Given the description of an element on the screen output the (x, y) to click on. 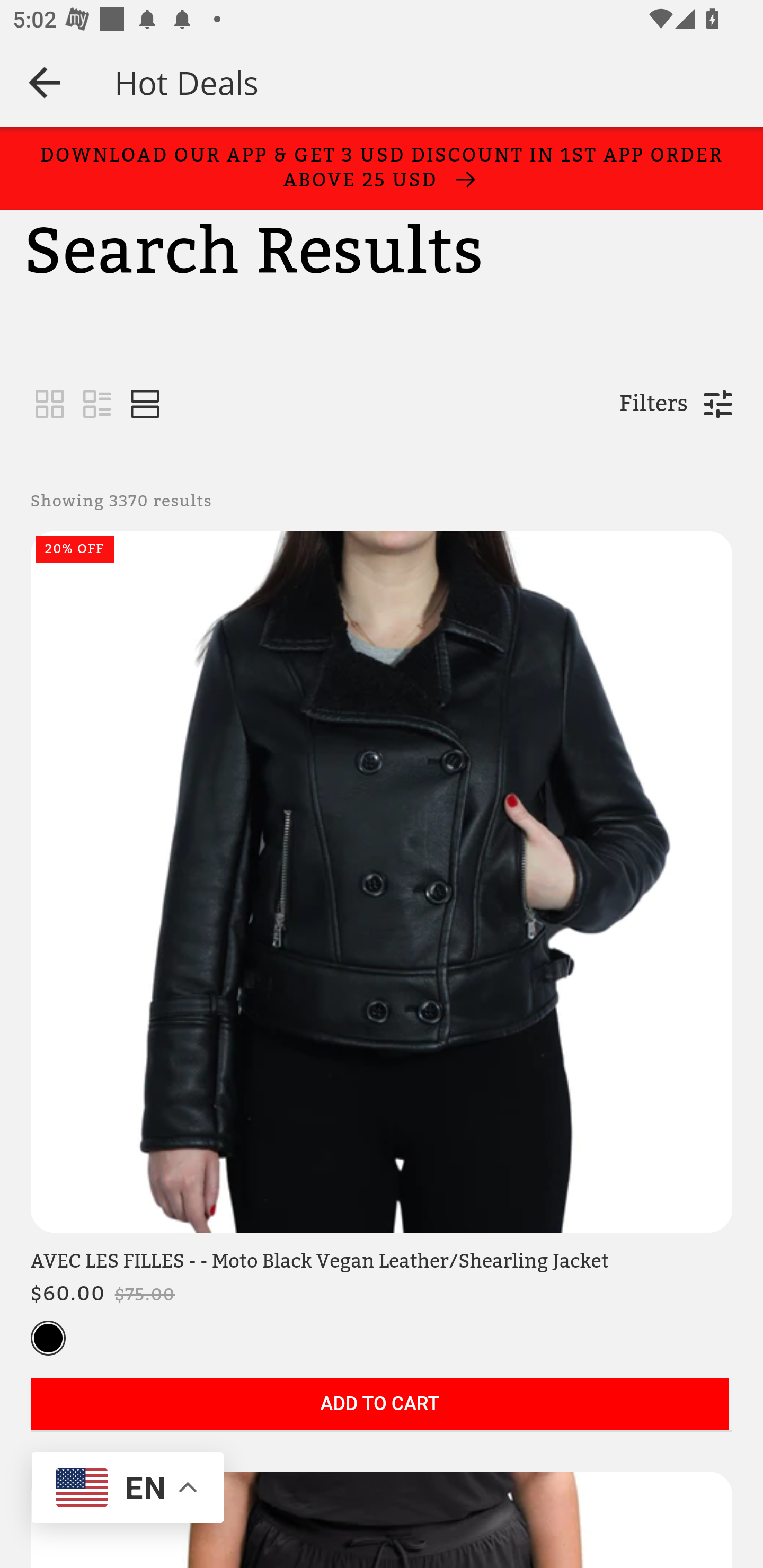
Navigate up (44, 82)
Filters (653, 404)
search-results-page?collection=sale# (50, 404)
search-results-page?collection=sale# (97, 404)
search-results-page?collection=sale# (145, 404)
Black (48, 1338)
ADD TO CART (379, 1404)
